Given the description of an element on the screen output the (x, y) to click on. 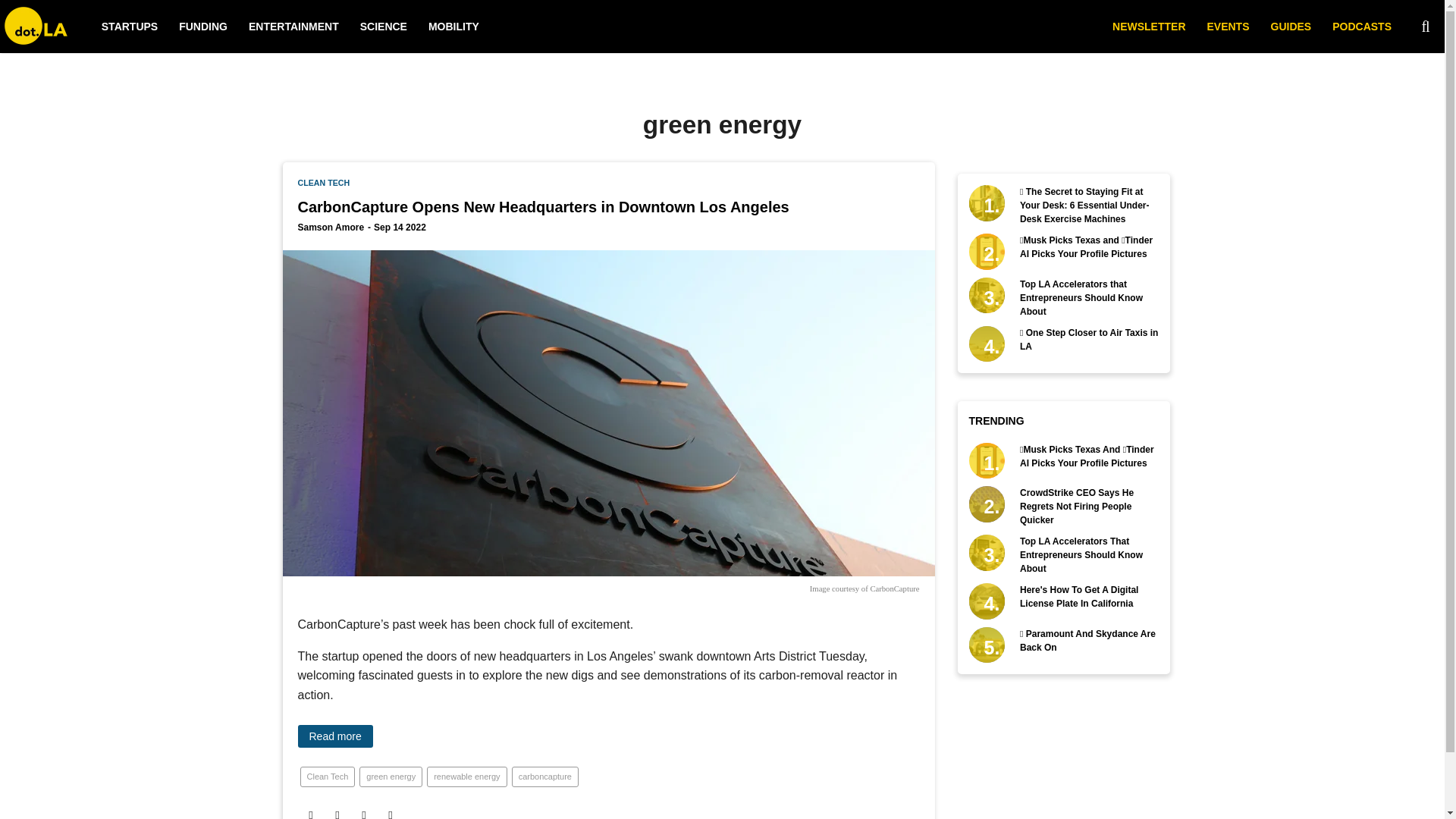
STARTUPS (129, 26)
ENTERTAINMENT (293, 26)
FUNDING (203, 26)
SCIENCE (383, 26)
